Given the description of an element on the screen output the (x, y) to click on. 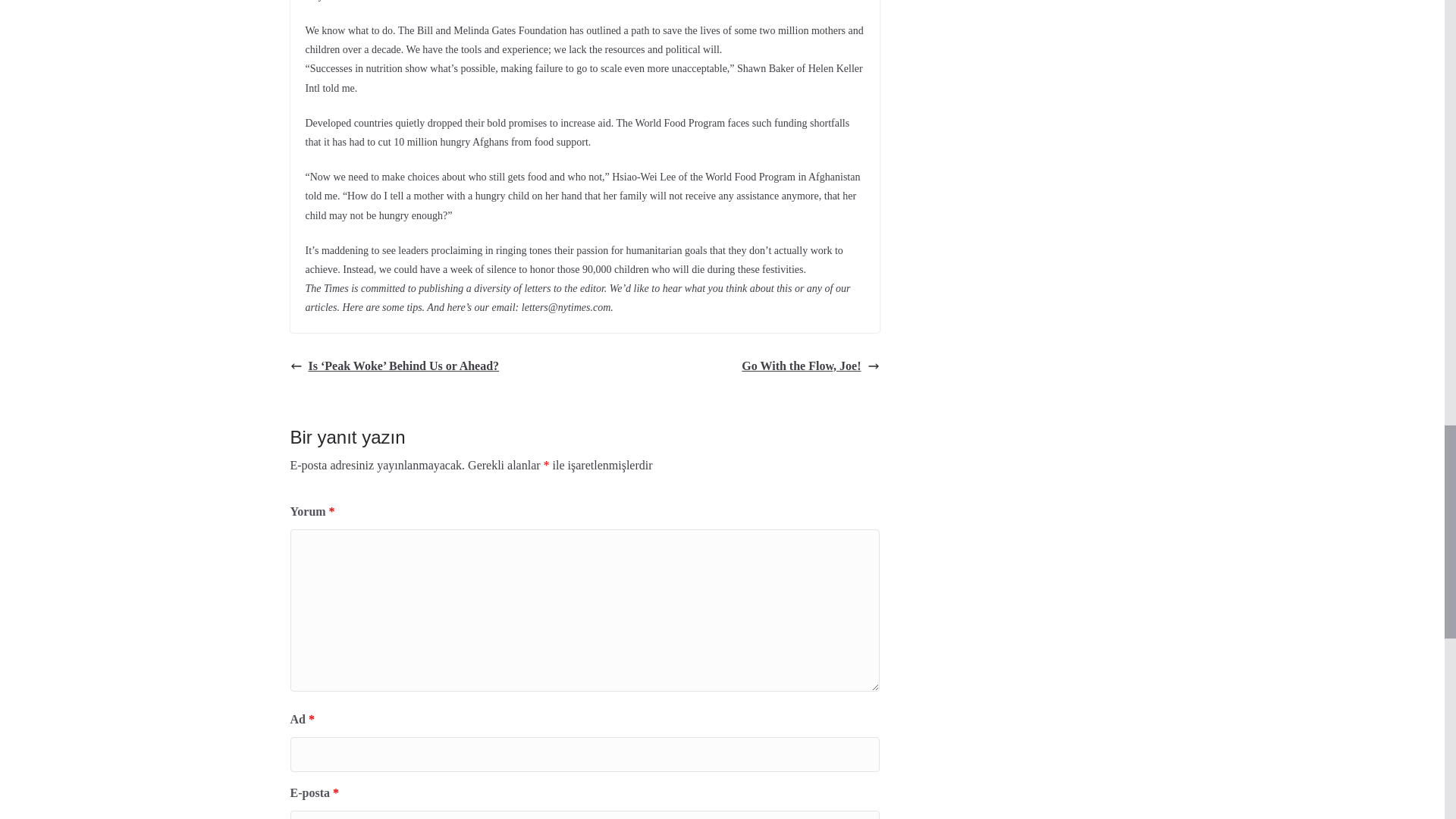
Go With the Flow, Joe! (810, 366)
